Given the description of an element on the screen output the (x, y) to click on. 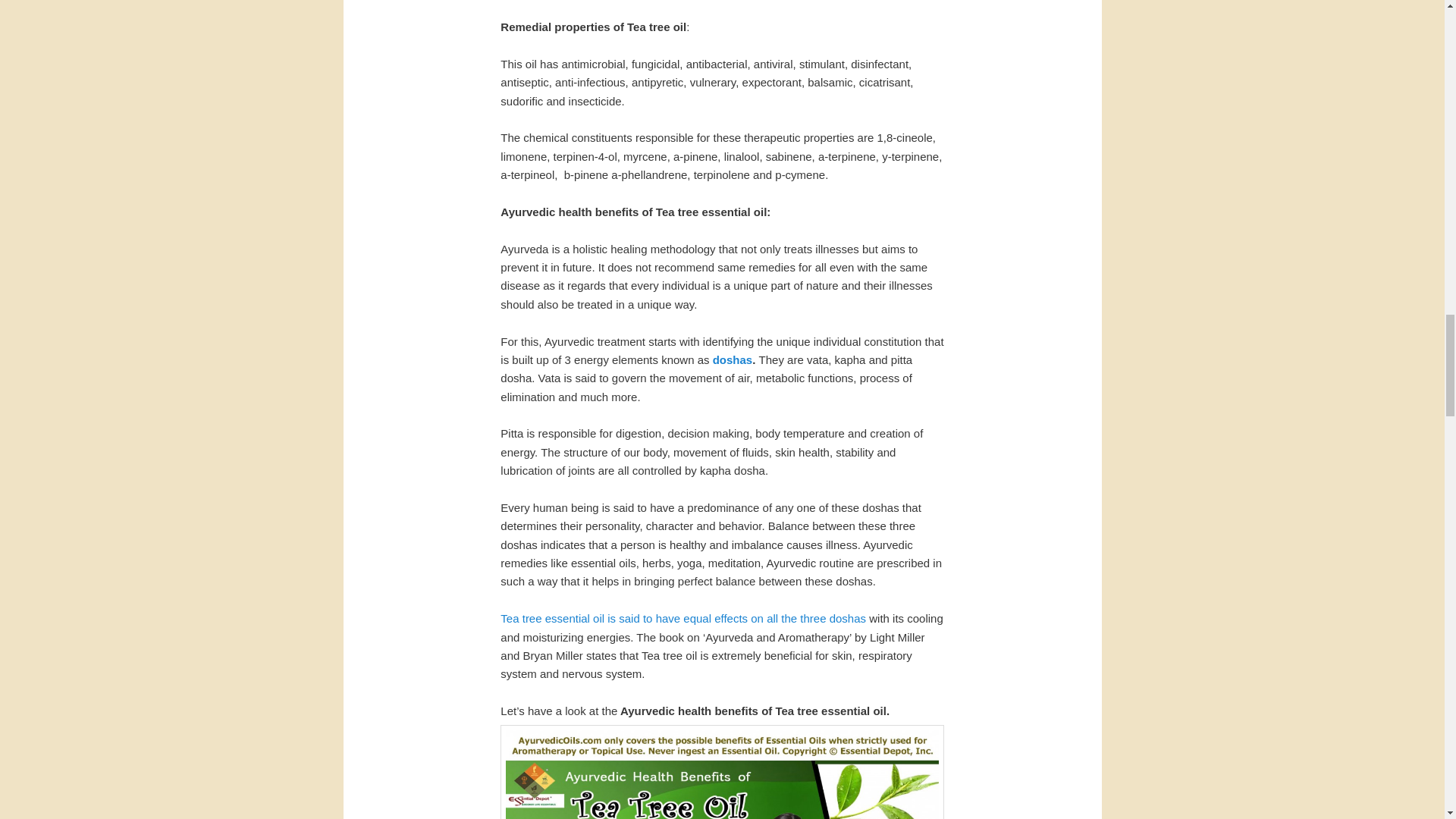
doshas (732, 359)
